Given the description of an element on the screen output the (x, y) to click on. 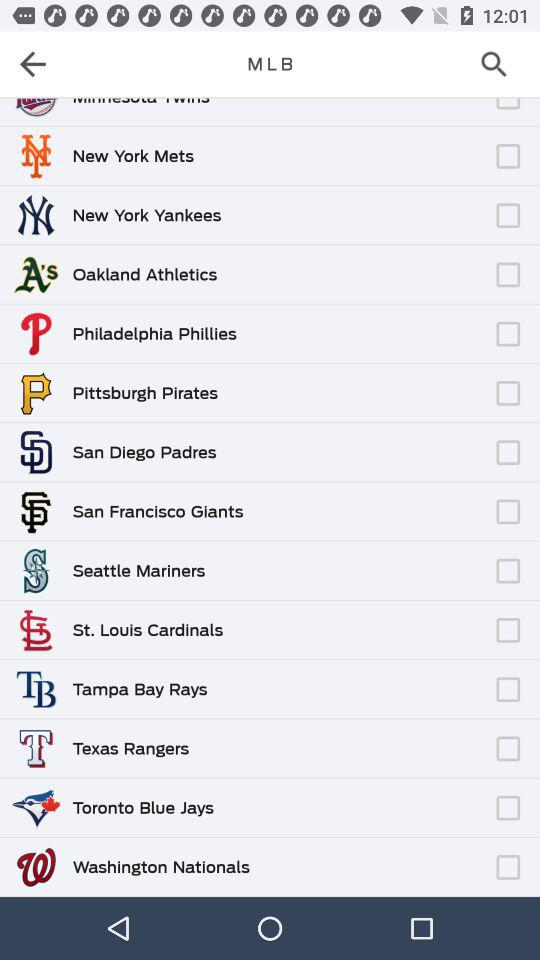
launch icon next to the oakland athletics icon (353, 265)
